Given the description of an element on the screen output the (x, y) to click on. 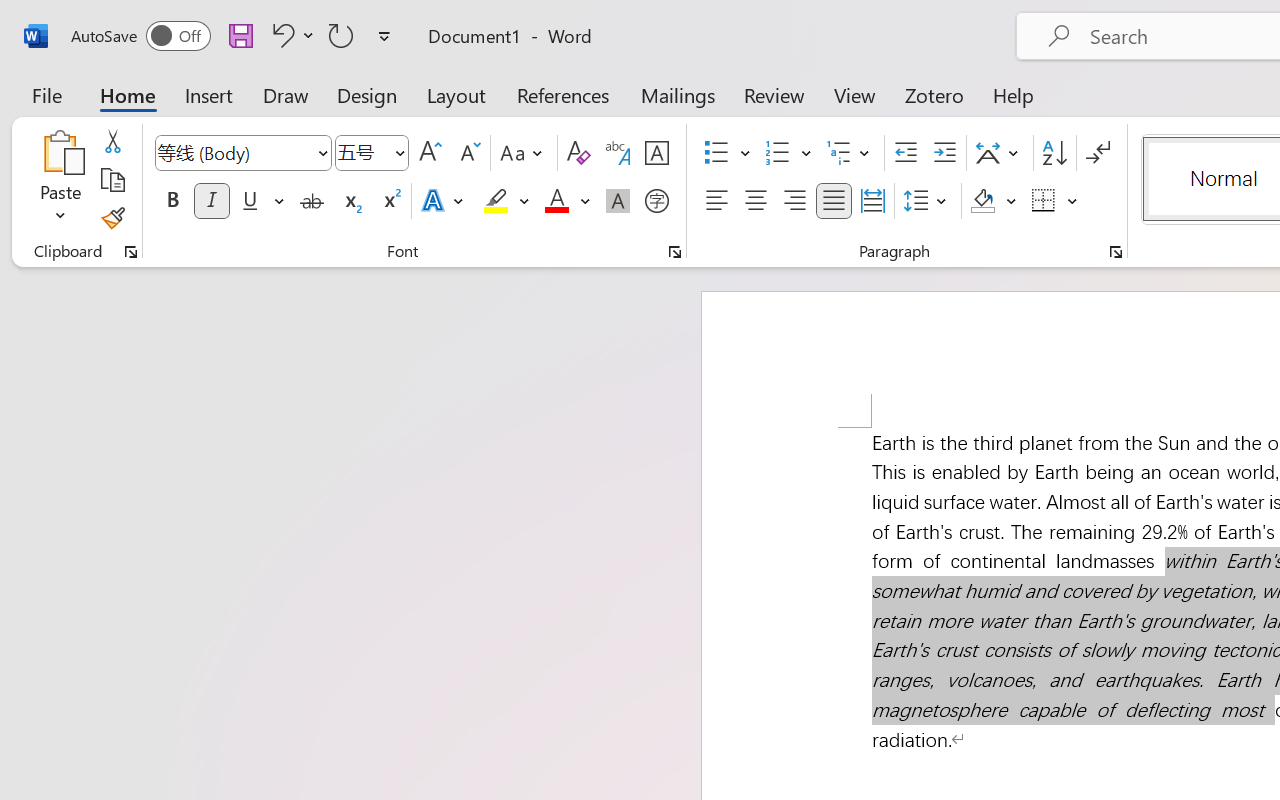
Asian Layout (1000, 153)
Enclose Characters... (656, 201)
Increase Indent (944, 153)
Shading (993, 201)
Sort... (1054, 153)
Character Shading (618, 201)
Justify (834, 201)
Line and Paragraph Spacing (927, 201)
Format Painter (112, 218)
